Given the description of an element on the screen output the (x, y) to click on. 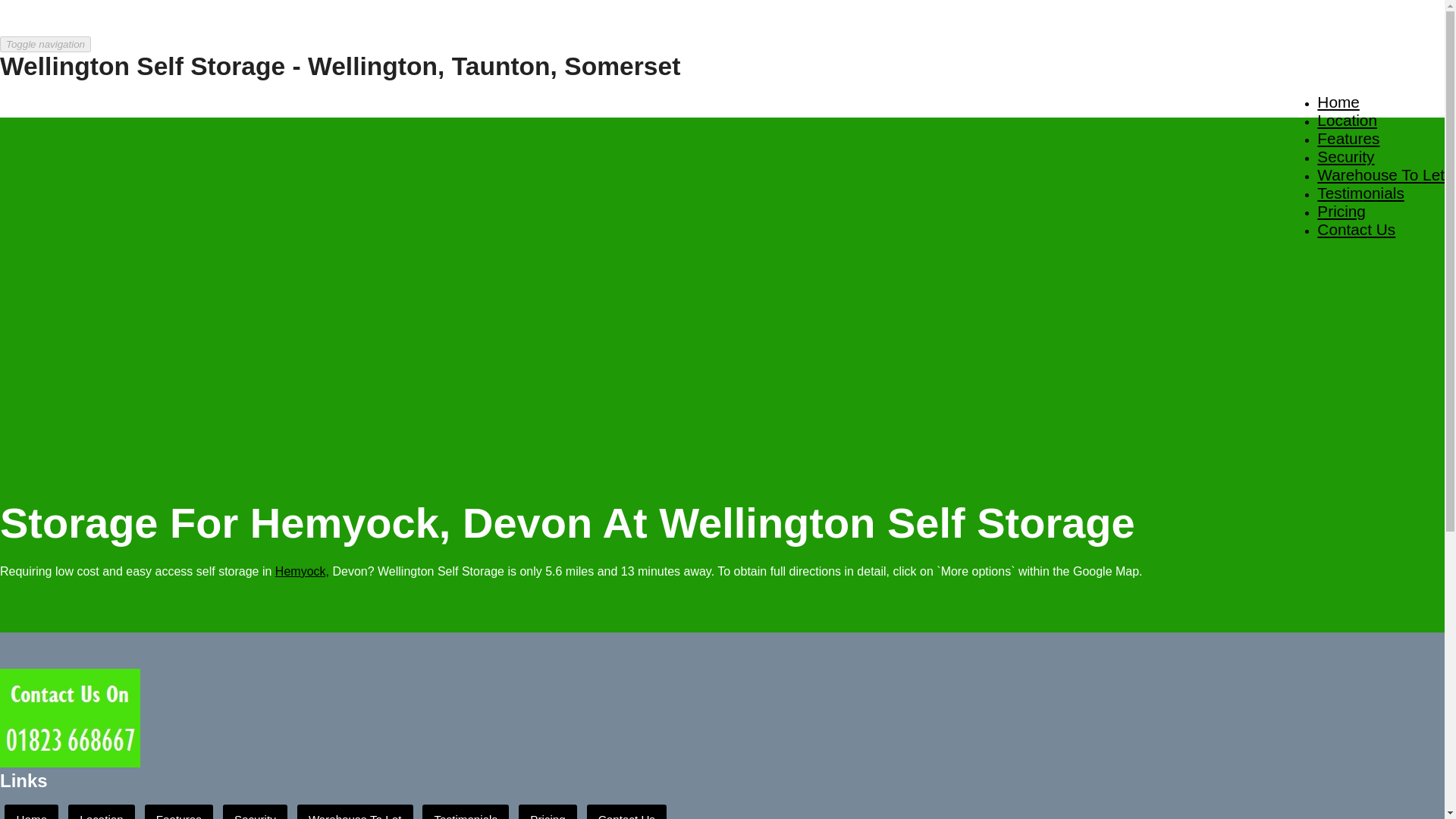
Testimonials (1360, 192)
Hemyock, (302, 571)
Security (1345, 156)
Toggle navigation (45, 44)
Location (101, 811)
Home (31, 811)
Pricing (547, 811)
Wellington Self Storage - Wellington, Taunton, Somerset (339, 66)
Features (1347, 138)
Contact Us (1355, 228)
Warehouse To Let (355, 811)
Contact Us (626, 811)
Security (254, 811)
Testimonials (465, 811)
Pricing (1341, 210)
